Given the description of an element on the screen output the (x, y) to click on. 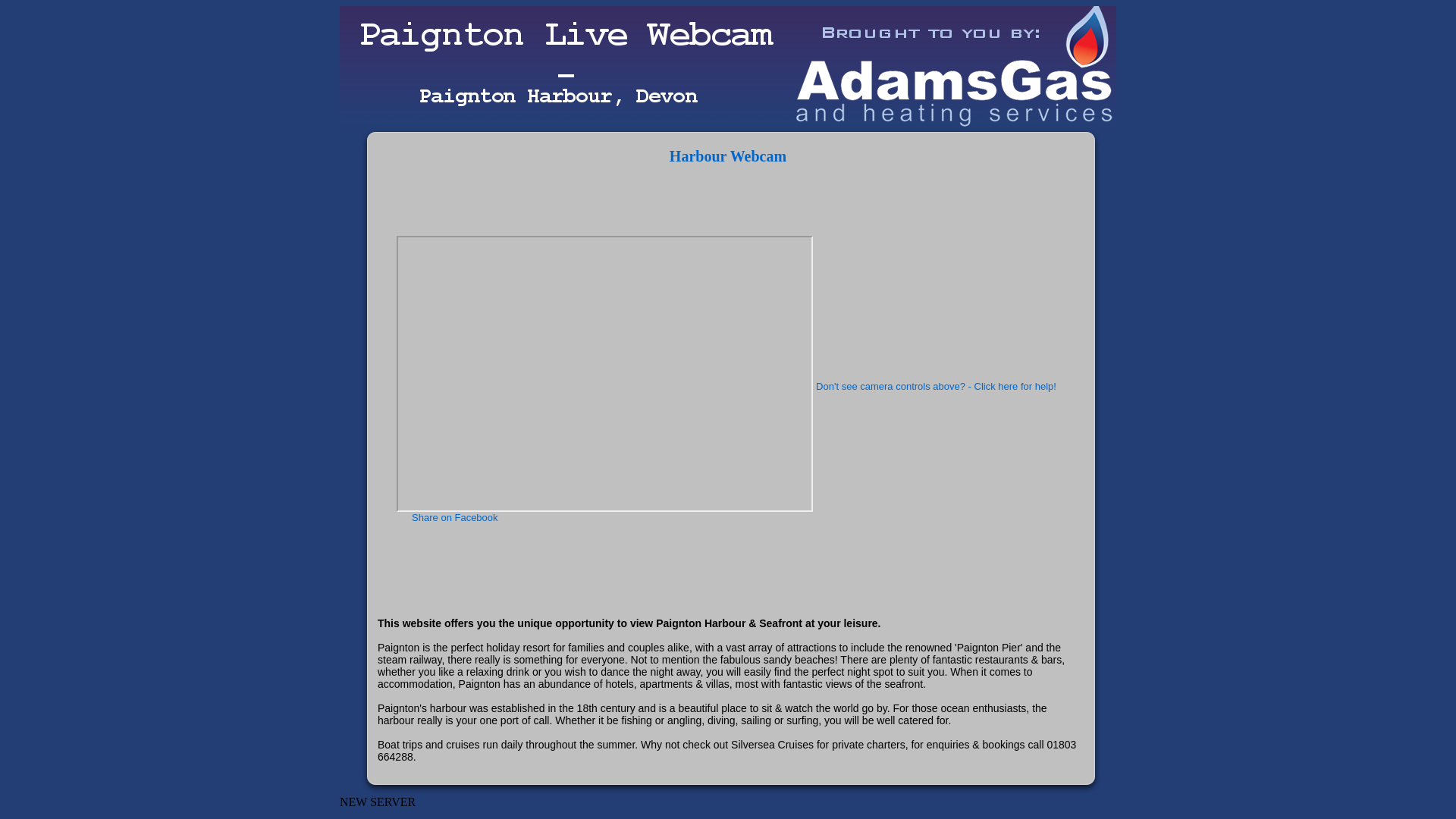
Advertisement (653, 559)
Don't see camera controls above? - Click here for help! (936, 386)
Advertisement (653, 199)
Share on Facebook (446, 516)
